Given the description of an element on the screen output the (x, y) to click on. 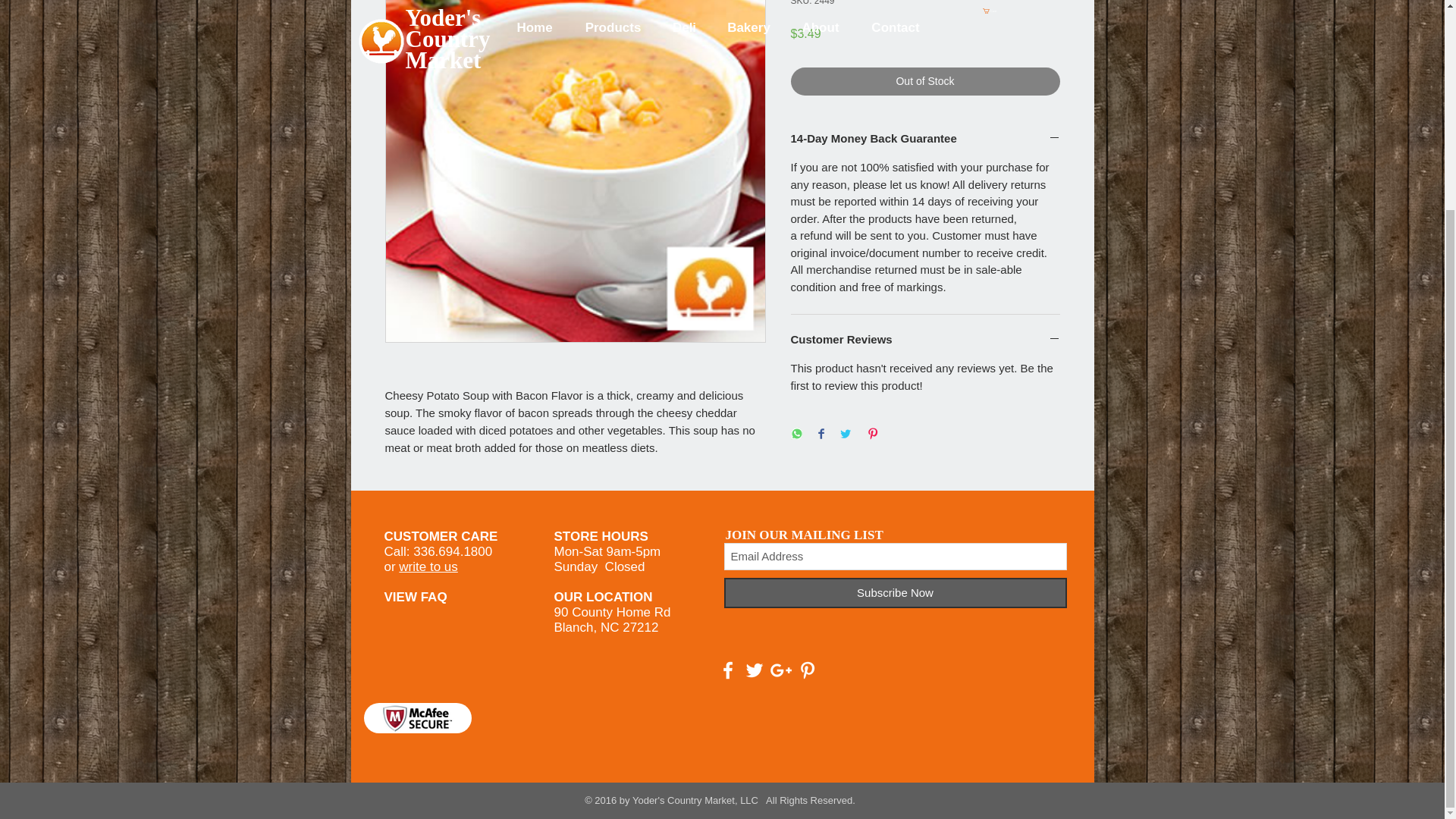
Out of Stock (924, 81)
Customer Reviews (924, 339)
VIEW FAQ (415, 596)
CUSTOMER CARE (440, 536)
write to us (427, 566)
Subscribe Now (894, 593)
14-Day Money Back Guarantee (924, 138)
